Given the description of an element on the screen output the (x, y) to click on. 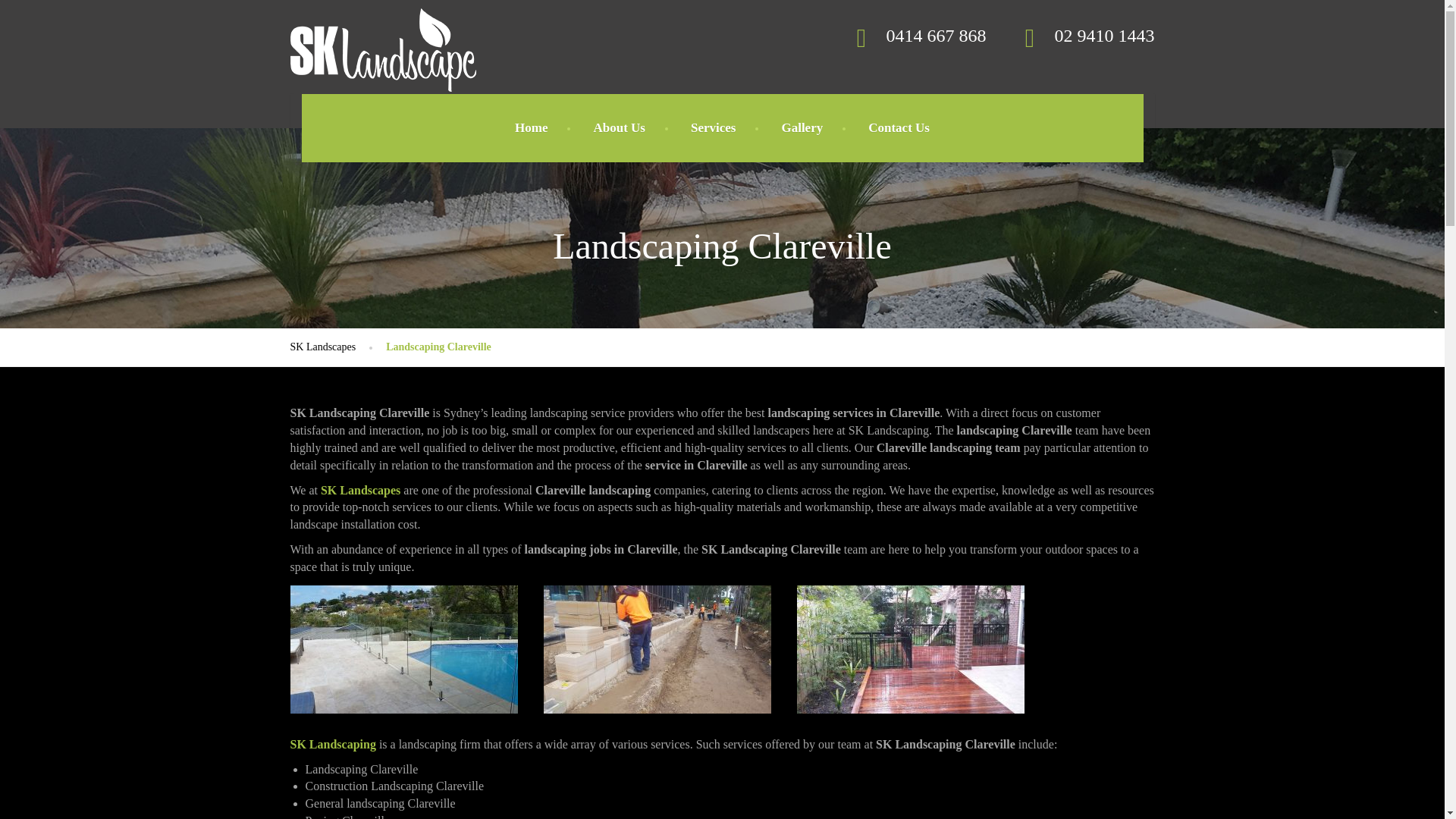
SK Landscapes (382, 18)
SK Landscapes (360, 490)
Gallery (801, 128)
Services (713, 128)
SK Landscapes (337, 347)
02 9410 1443 (1085, 35)
Contact Us (898, 128)
0414 667 868 (916, 35)
Home (531, 128)
SK Landscaping (332, 744)
About Us (619, 128)
Go to SK Landscapes. (337, 347)
